Given the description of an element on the screen output the (x, y) to click on. 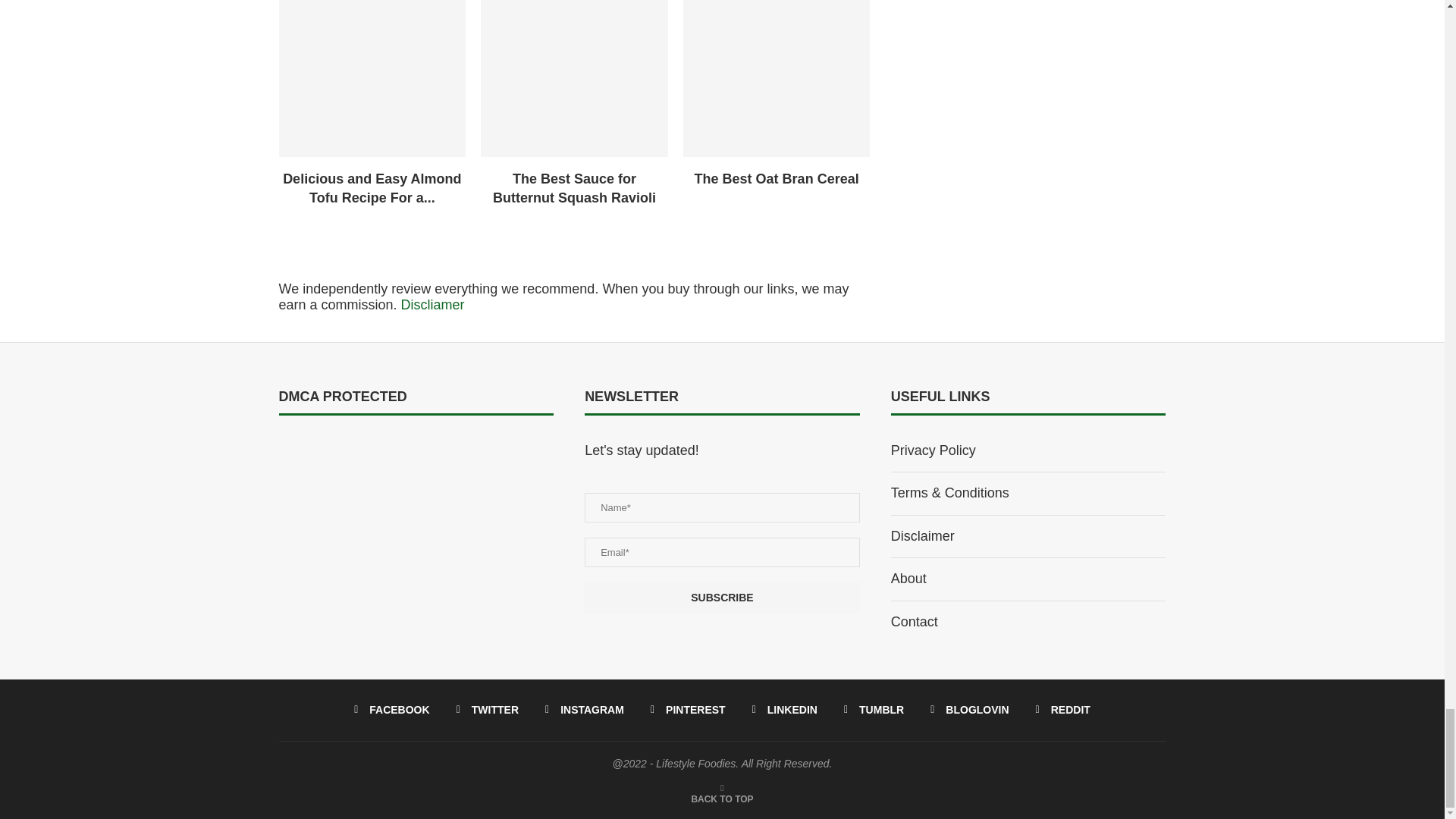
Subscribe (722, 597)
